Given the description of an element on the screen output the (x, y) to click on. 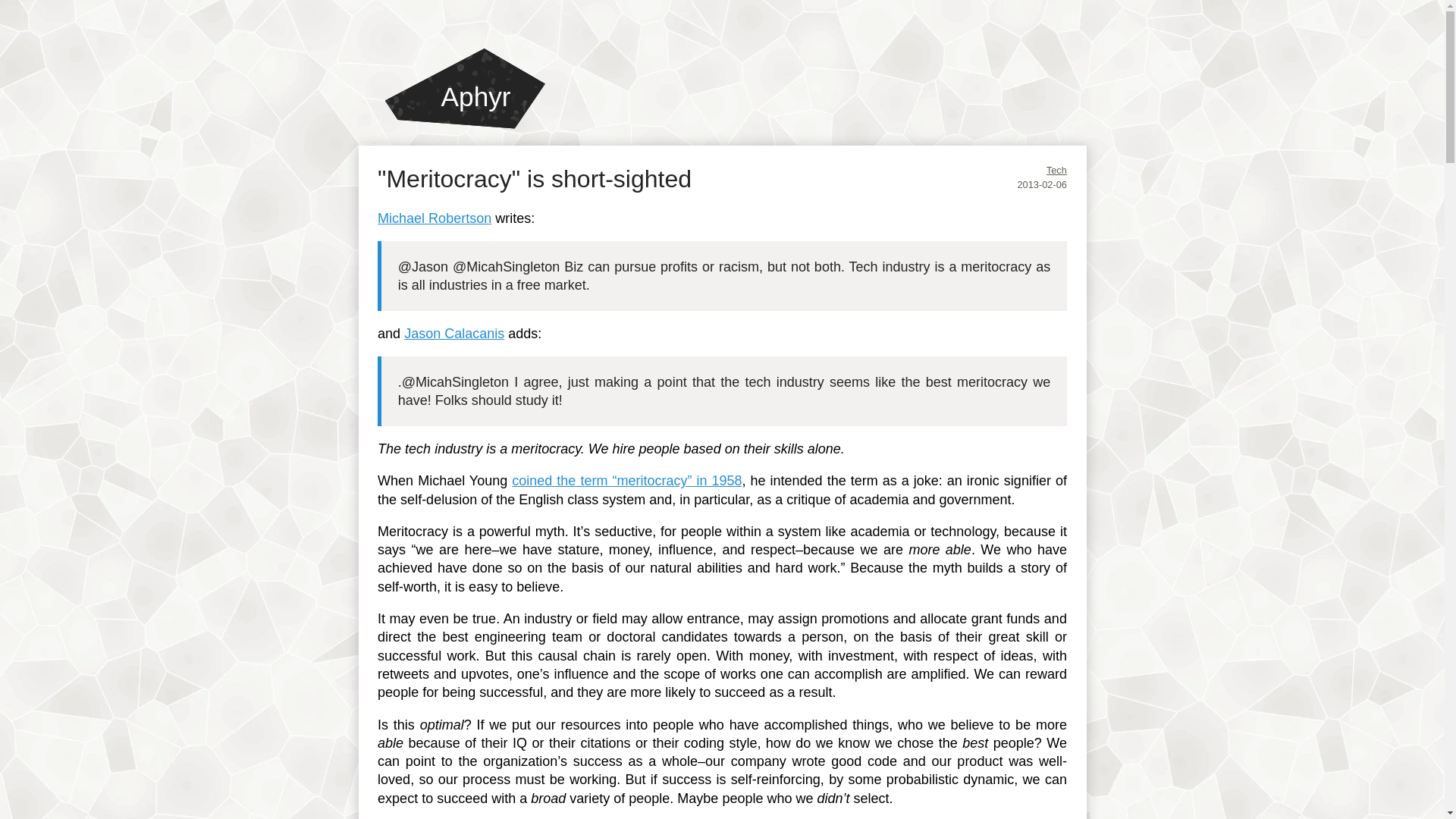
Aphyr (464, 88)
Michael Robertson (434, 218)
"Meritocracy" is short-sighted (534, 178)
Tech (1056, 170)
Jason Calacanis (453, 333)
